Given the description of an element on the screen output the (x, y) to click on. 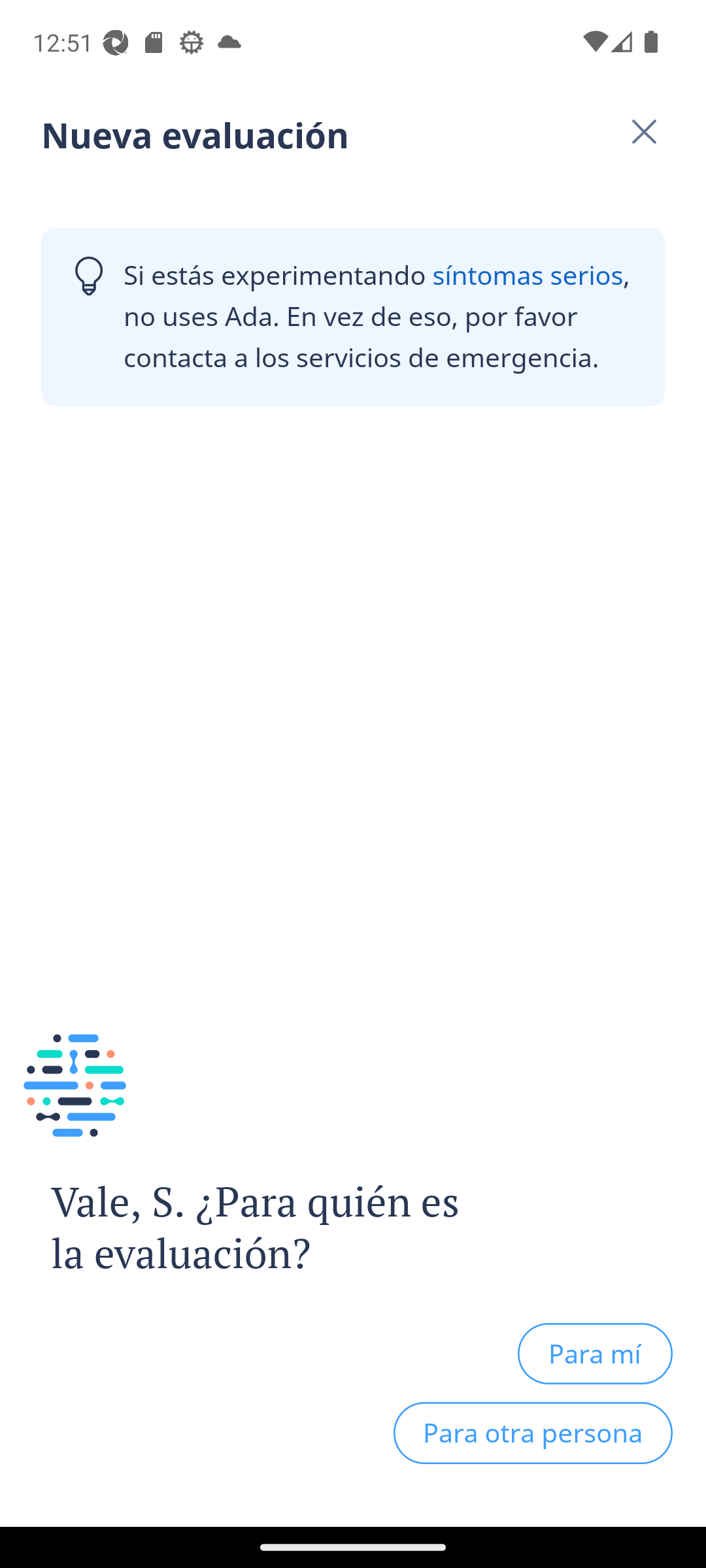
Vale, S. ¿Para quién es la evaluación? (240, 1227)
Para mí (594, 1352)
Para otra persona (532, 1432)
